Given the description of an element on the screen output the (x, y) to click on. 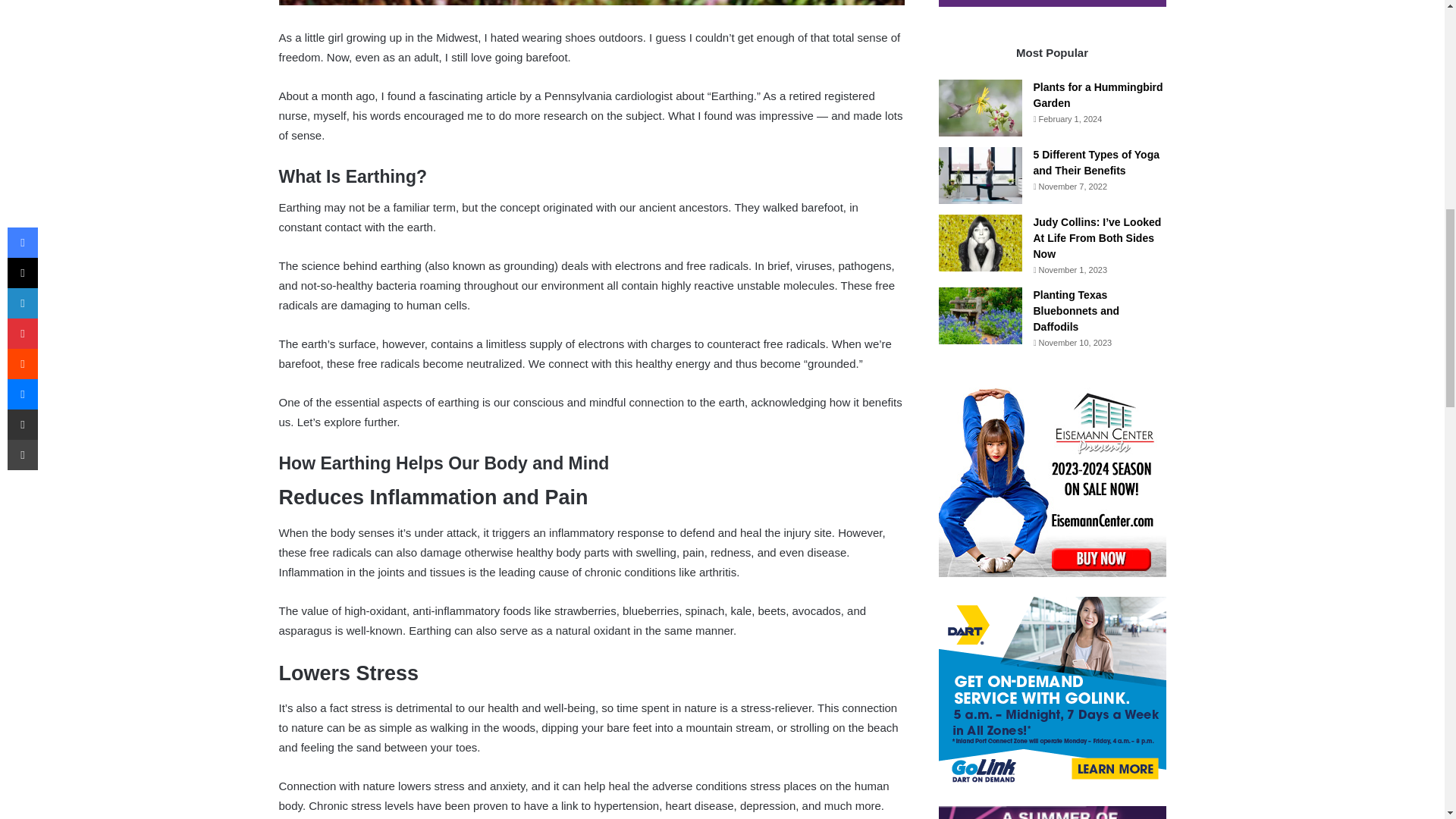
Judy Collins: I've Looked At Life From Both Sides Now 15 (980, 242)
Planting Texas Bluebonnets and Daffodils 16 (980, 315)
5 Different Types of Yoga and Their Benefits 14 (980, 175)
Plants for a Hummingbird Garden 13 (980, 107)
